Given the description of an element on the screen output the (x, y) to click on. 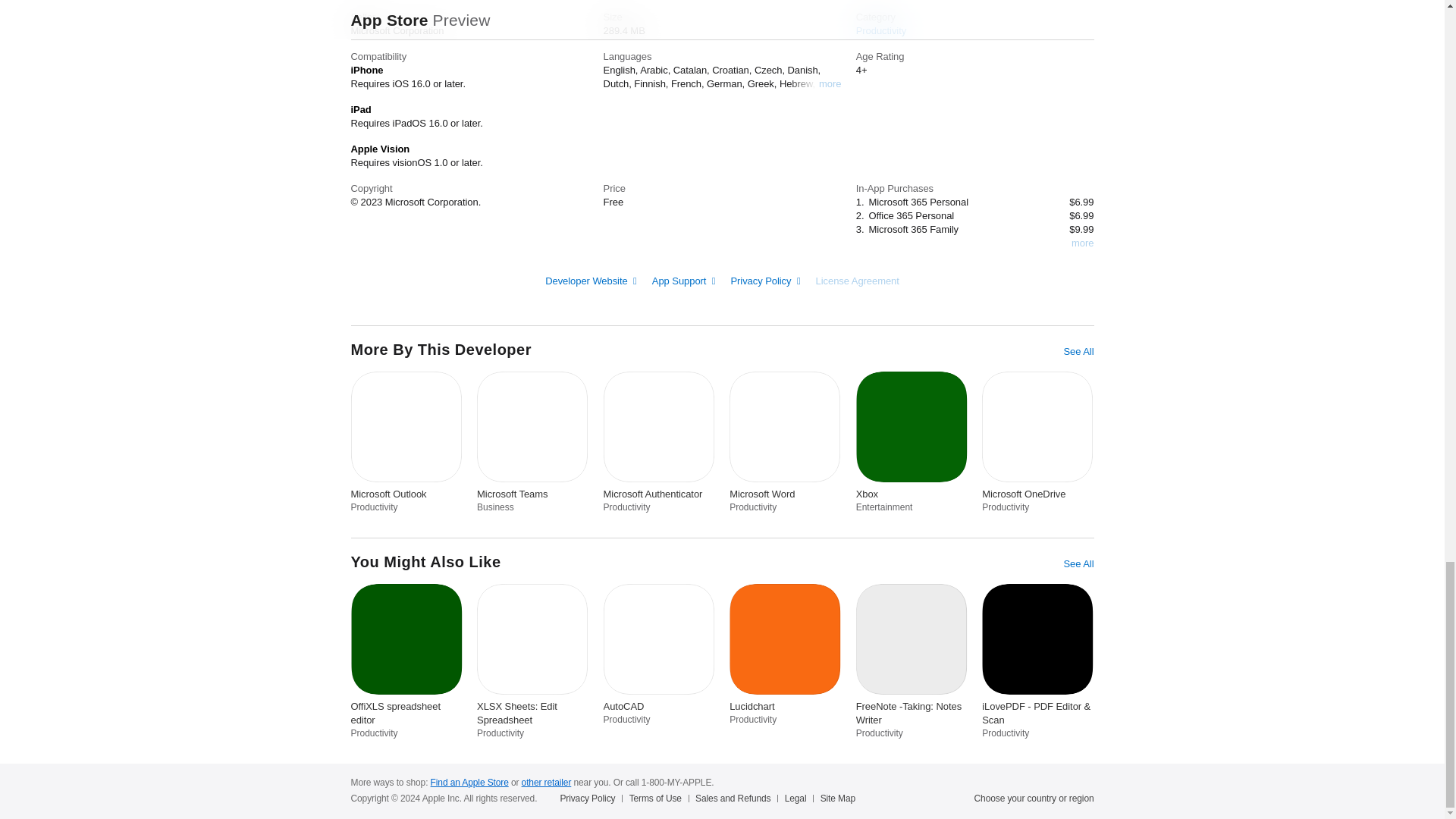
App Support (684, 280)
Developer Website (590, 280)
more (1082, 242)
License Agreement (857, 280)
more (829, 83)
Choose your country or region (1034, 798)
Privacy Policy (764, 280)
Productivity (880, 30)
